Given the description of an element on the screen output the (x, y) to click on. 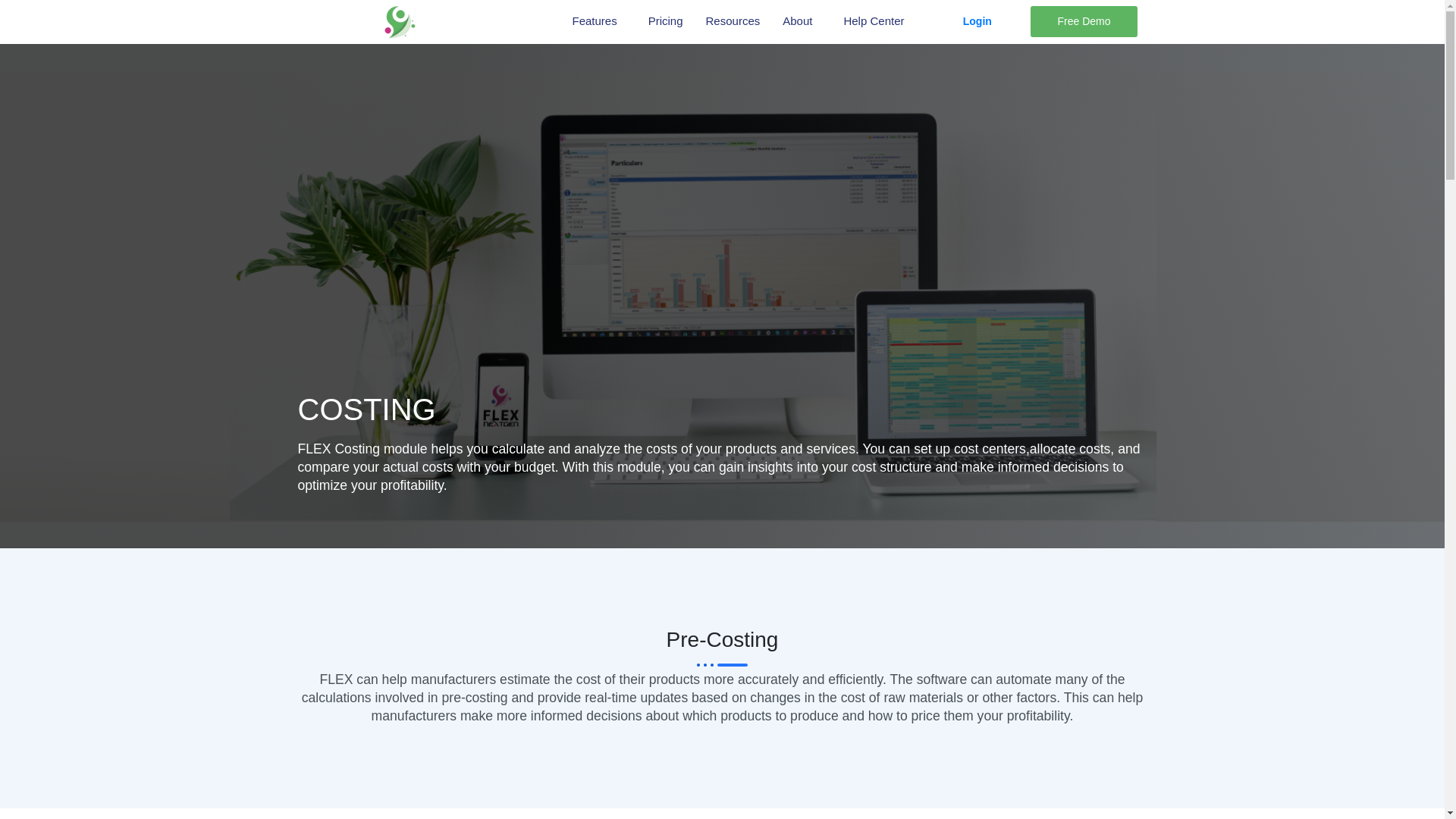
Help Center (877, 20)
About (801, 20)
Free Demo (1083, 20)
Resources (732, 20)
Pricing (665, 20)
Features (598, 20)
Login (976, 20)
